Given the description of an element on the screen output the (x, y) to click on. 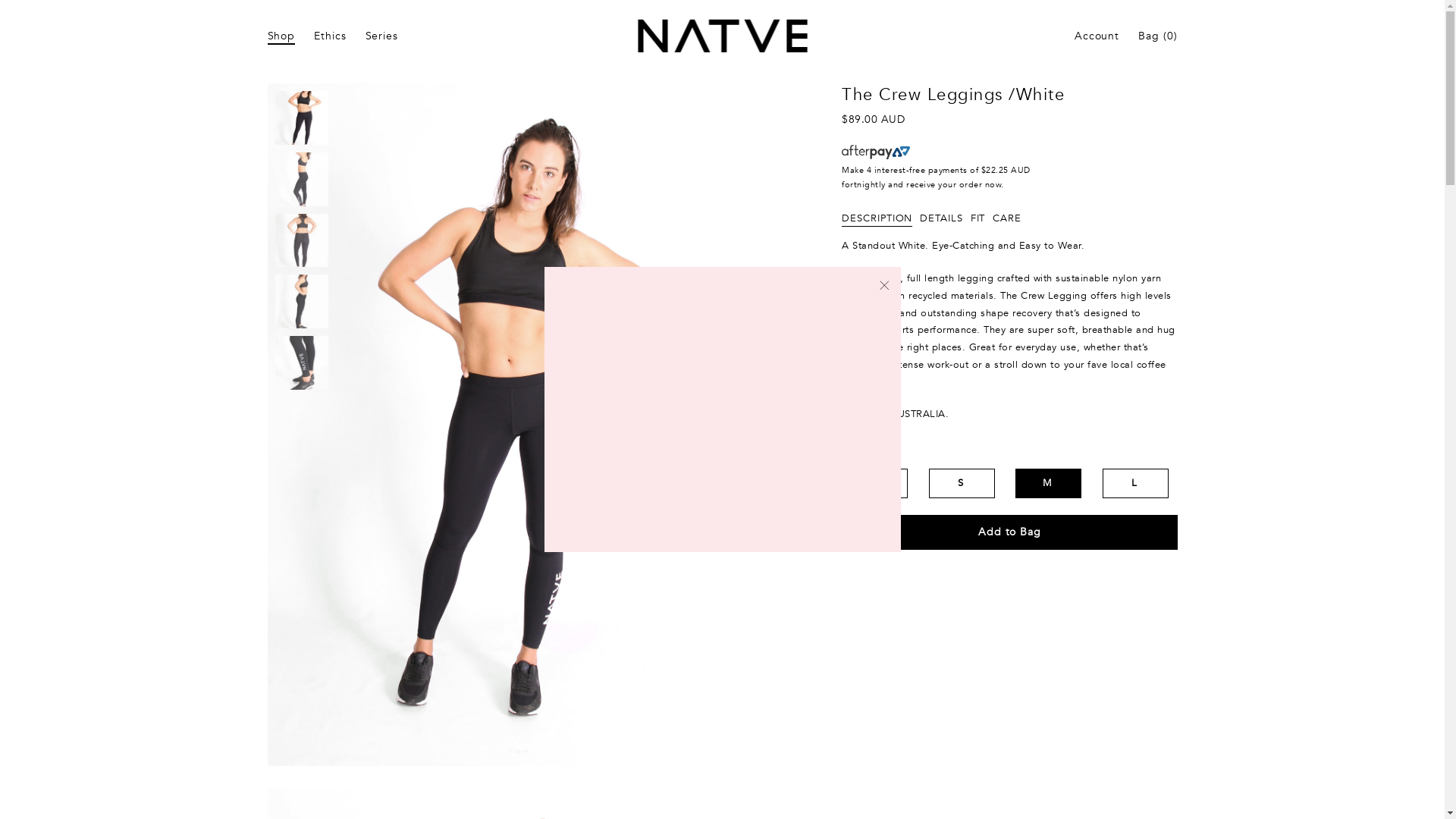
Shop Element type: text (281, 36)
Ethics Element type: text (329, 36)
Add to Bag Element type: text (1008, 531)
FIT Element type: text (977, 214)
Natve Athletics Element type: hover (722, 35)
DESCRIPTION Element type: text (876, 214)
Series Element type: text (381, 36)
CARE Element type: text (1006, 214)
Bag (0) Element type: text (1157, 36)
DETAILS Element type: text (940, 214)
